Given the description of an element on the screen output the (x, y) to click on. 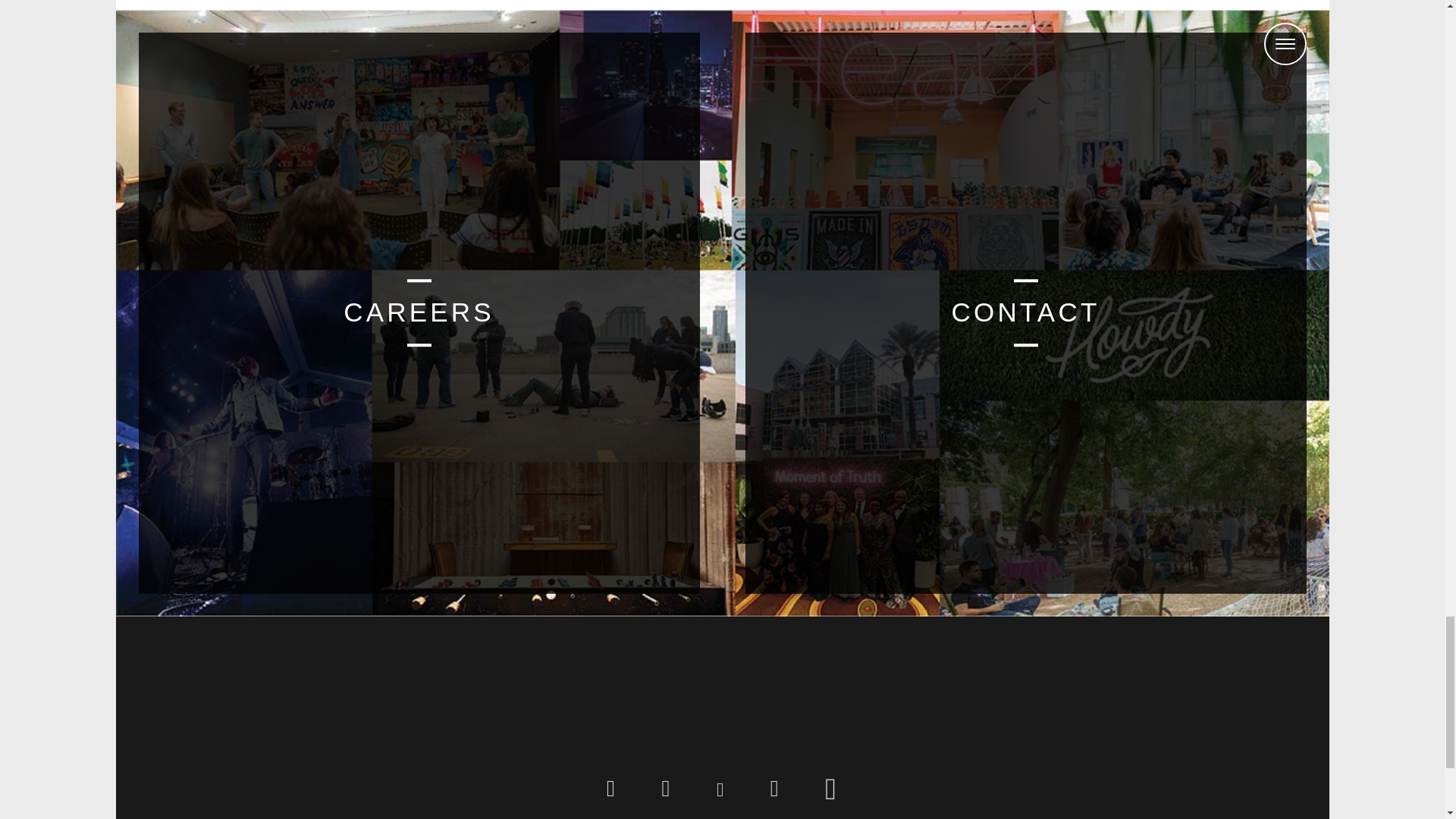
twitter (720, 789)
linkedin (611, 787)
youtube (831, 787)
instagram (774, 787)
facebook (666, 787)
